Given the description of an element on the screen output the (x, y) to click on. 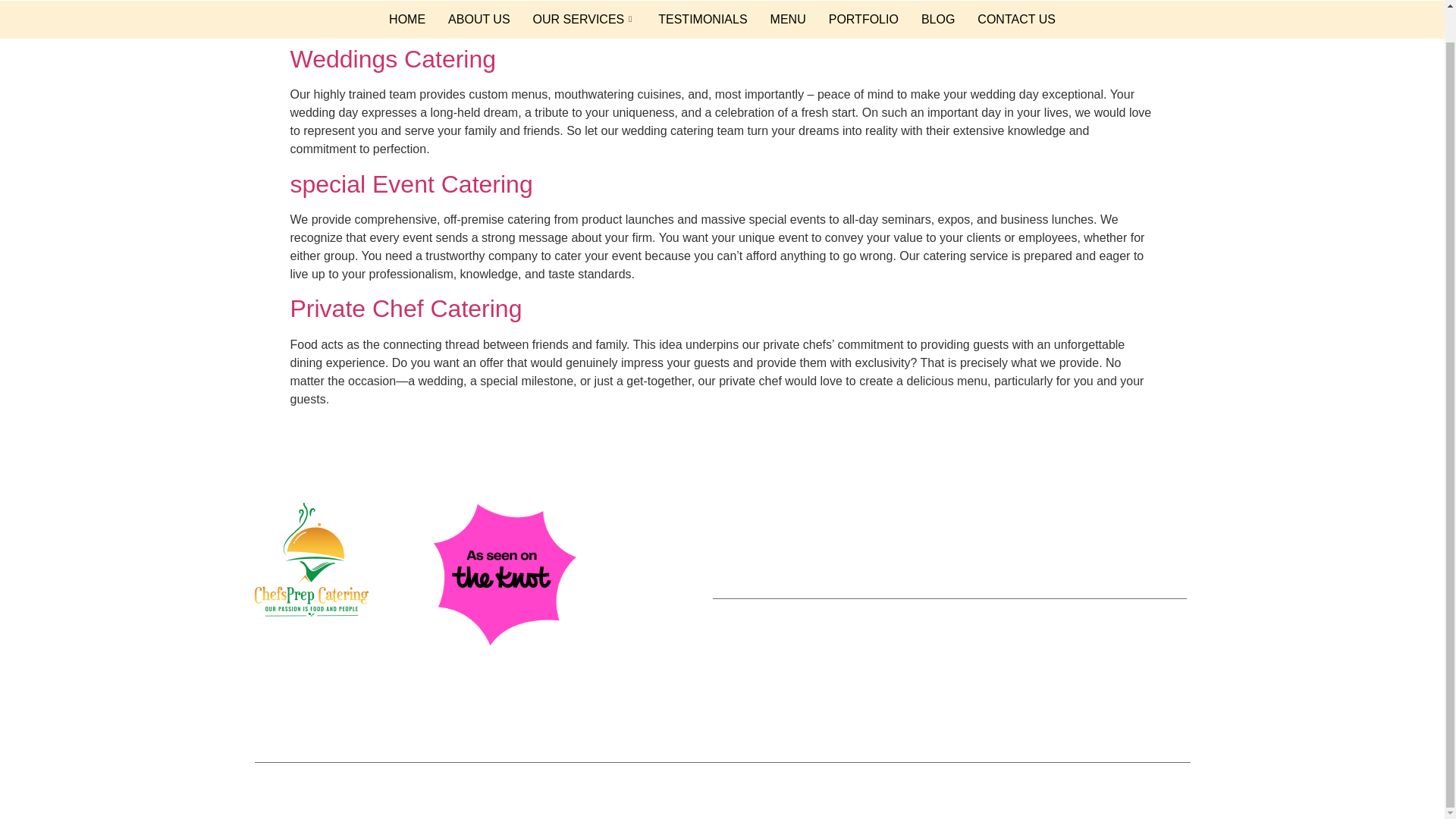
PORTFOLIO (863, 19)
CONTACT US (1016, 19)
special Event Catering (410, 184)
SUBMIT (1163, 556)
ABOUT US (478, 19)
HOME (406, 19)
TESTIMONIALS (702, 19)
Private Chef Catering (405, 308)
OUR SERVICES (584, 19)
